Given the description of an element on the screen output the (x, y) to click on. 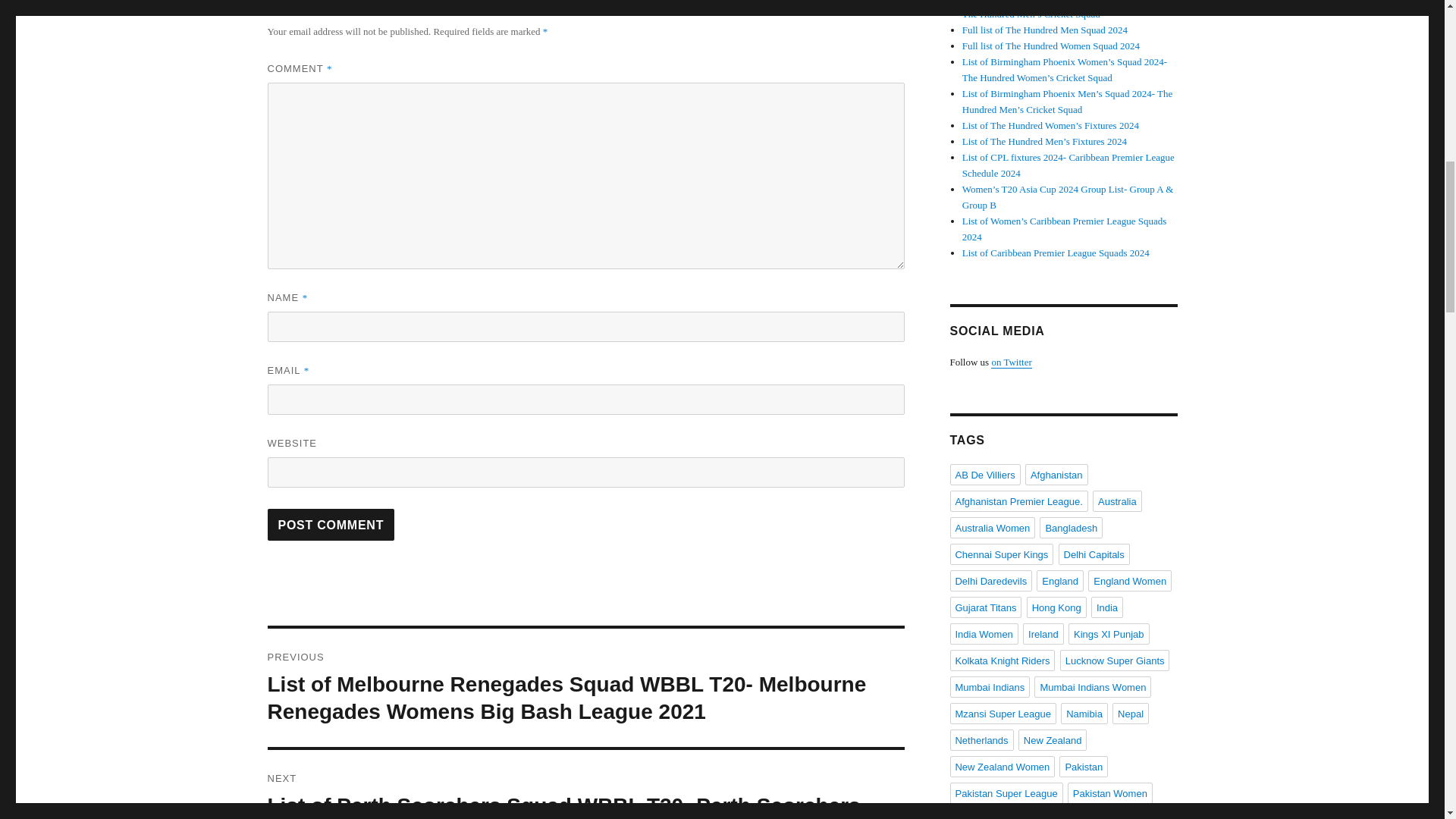
List of Caribbean Premier League Squads 2024 (1056, 252)
Full list of The Hundred Men Squad 2024 (1044, 30)
on Twitter (1010, 361)
Post Comment (330, 524)
Post Comment (330, 524)
Full list of The Hundred Women Squad 2024 (1051, 45)
